Given the description of an element on the screen output the (x, y) to click on. 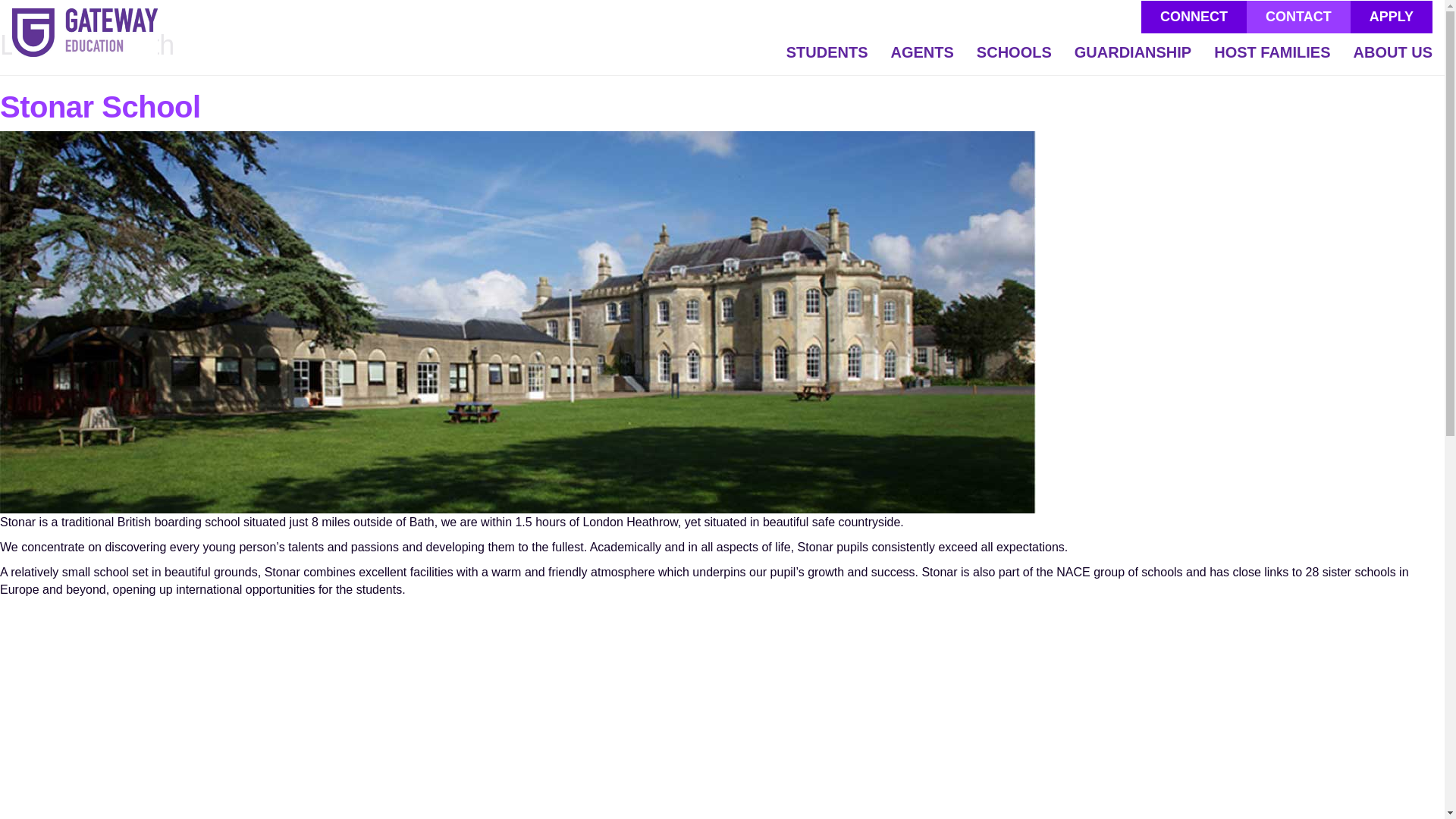
AGENTS (922, 58)
HOST FAMILIES (1271, 58)
ABOUT US (1387, 58)
SCHOOLS (1013, 58)
GUARDIANSHIP (1132, 58)
CONTACT (1298, 16)
APPLY (1391, 16)
STUDENTS (826, 58)
CONNECT (1193, 16)
Stonar School (100, 106)
